Given the description of an element on the screen output the (x, y) to click on. 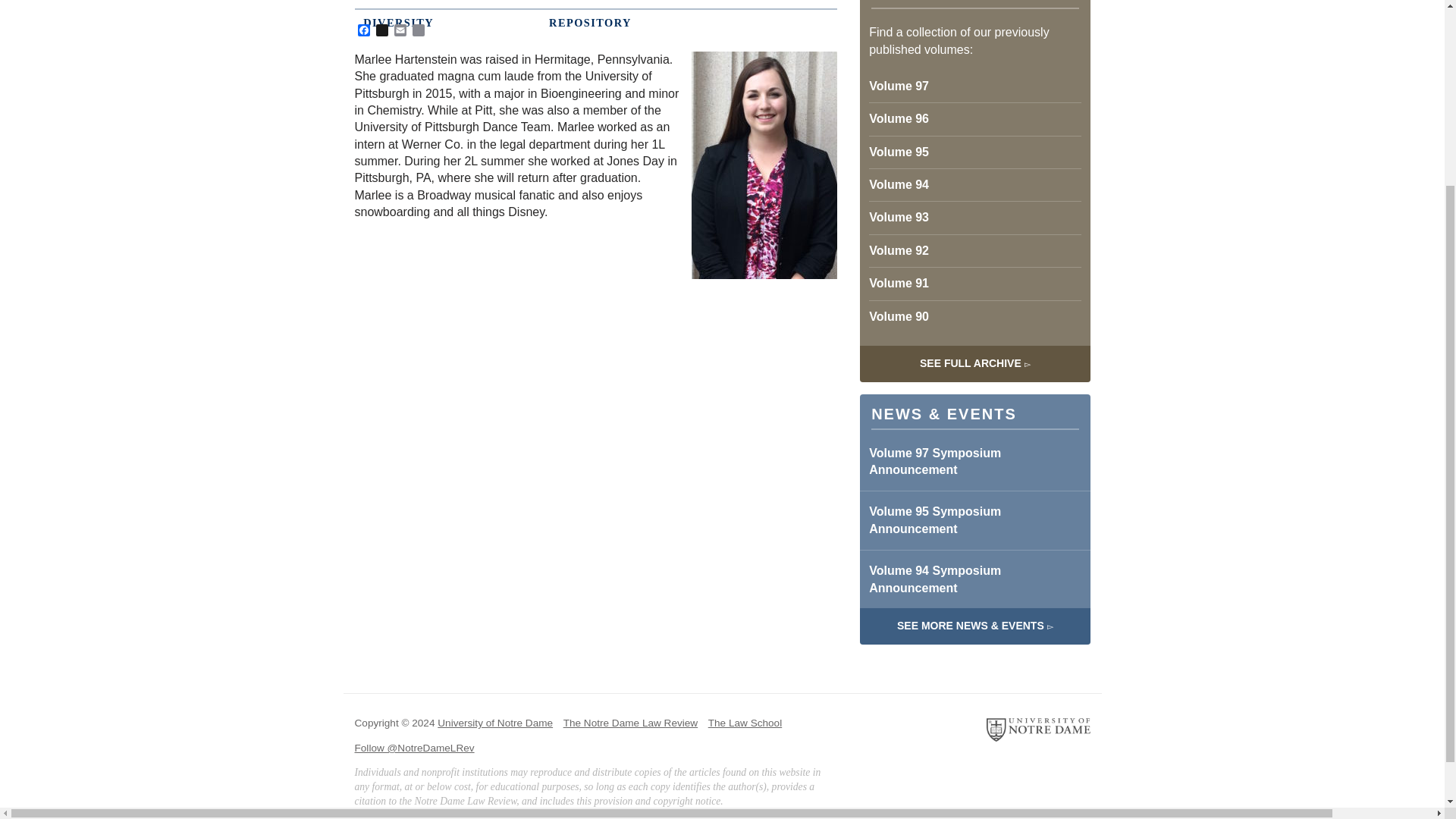
Volume 92 (974, 250)
Facebook (363, 31)
Copy Link (418, 31)
Email (400, 31)
Volume 93 (974, 216)
SUBSCRIPTIONS (719, 5)
X (381, 31)
Email (400, 31)
Volume 96 (974, 118)
Copy Link (418, 31)
DIVERSITY (719, 22)
Volume 94 (974, 184)
